Given the description of an element on the screen output the (x, y) to click on. 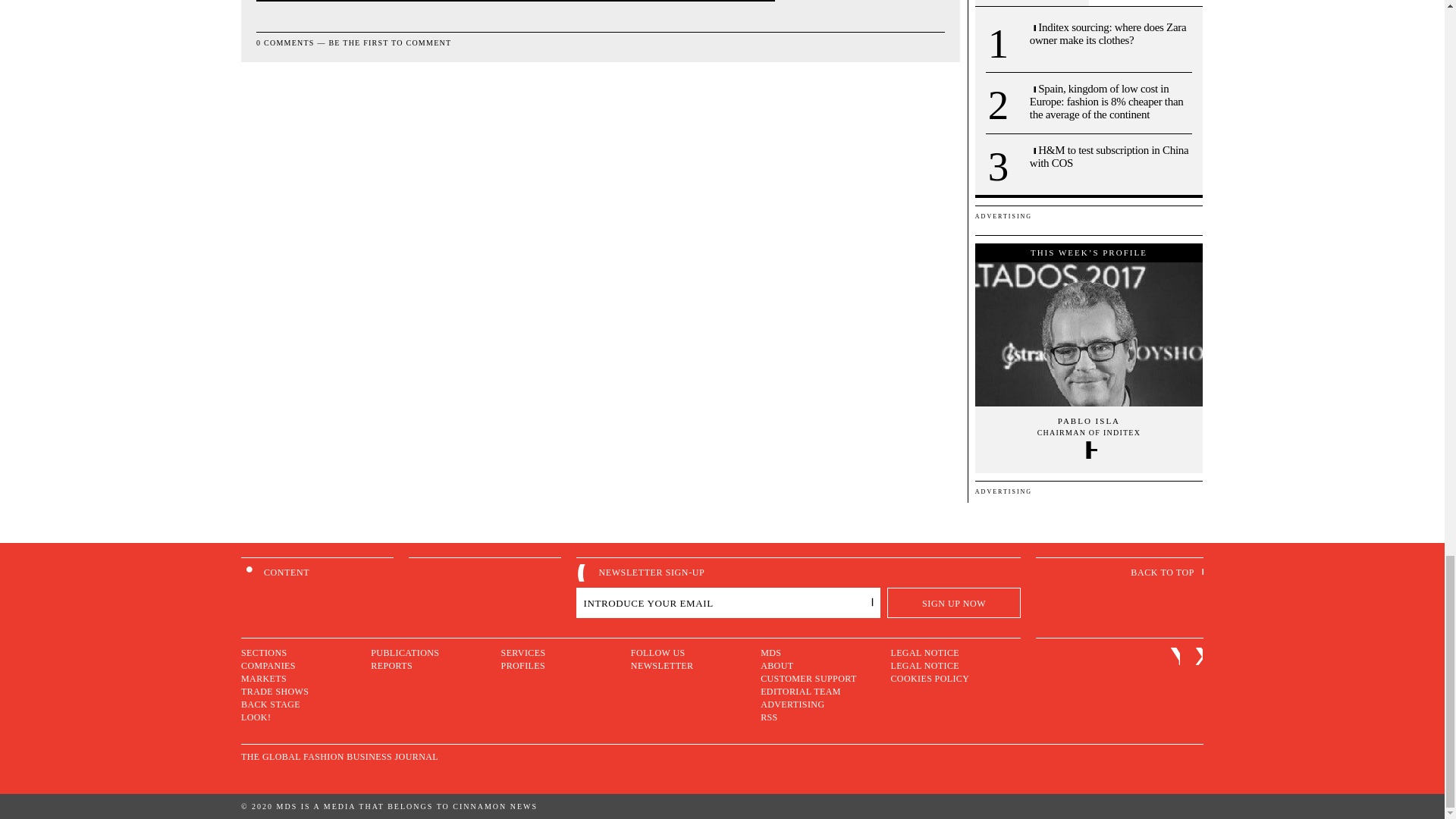
MOST READ (1032, 2)
k Inditex sourcing: where does Zara owner make its clothes? (1110, 33)
MOST COMMENTED (1145, 2)
